Given the description of an element on the screen output the (x, y) to click on. 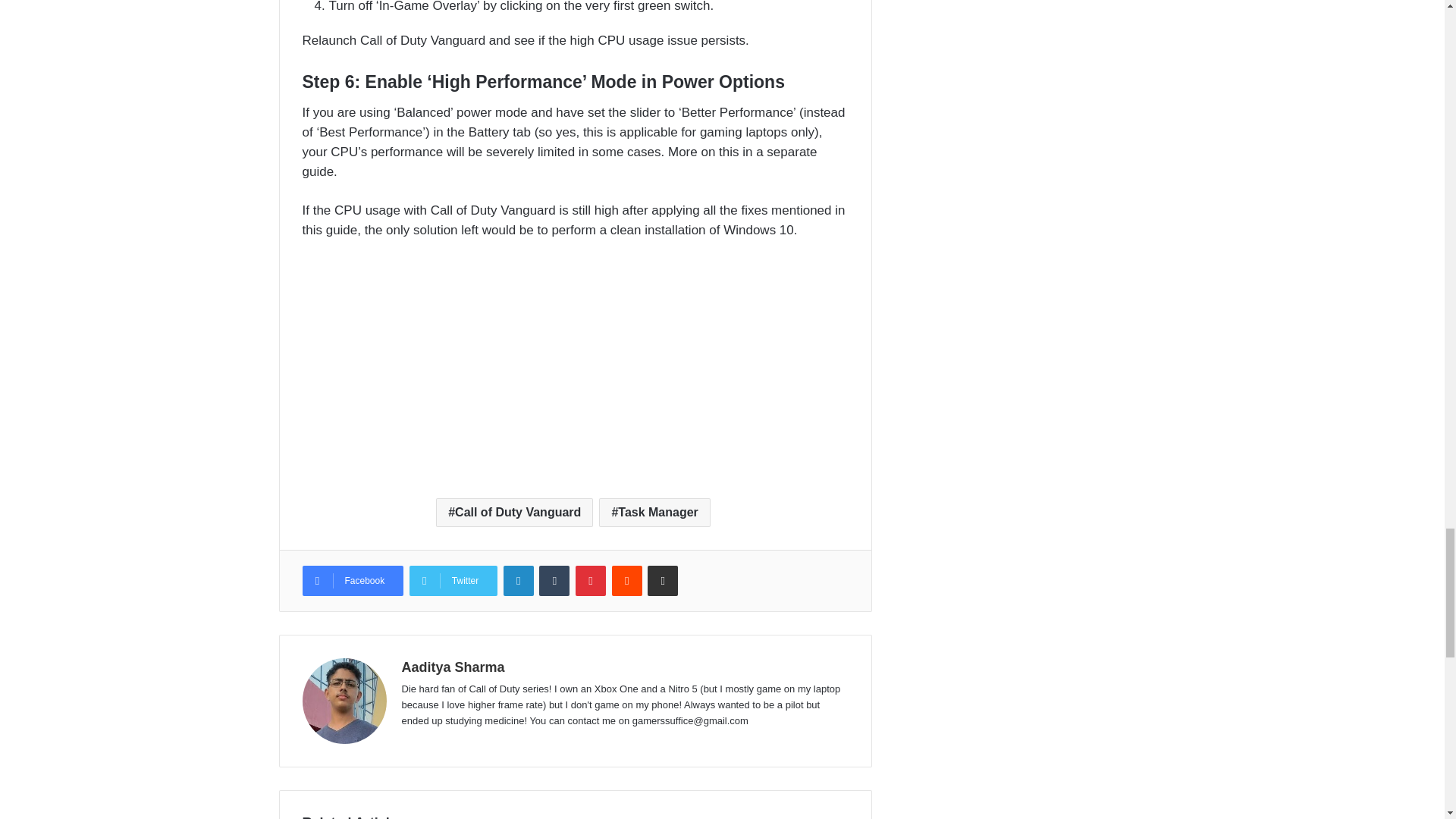
Twitter (453, 580)
Call of Duty Vanguard (513, 512)
Facebook (352, 580)
Reddit (626, 580)
Tumblr (553, 580)
Task Manager (654, 512)
LinkedIn (518, 580)
Pinterest (590, 580)
